Given the description of an element on the screen output the (x, y) to click on. 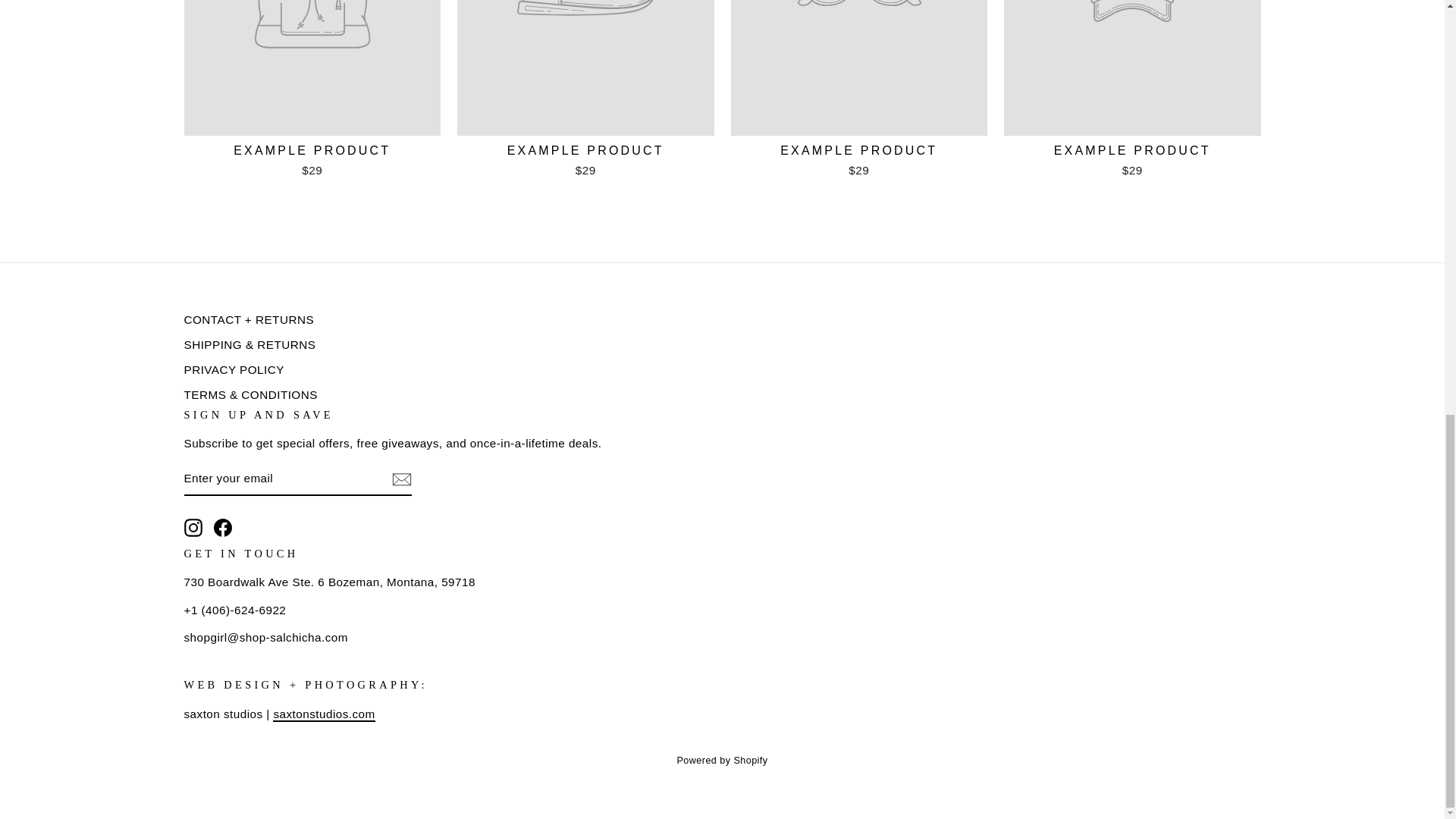
Salchicha on Instagram (192, 527)
icon-email (400, 479)
instagram (192, 527)
Salchicha on Facebook (222, 527)
